Given the description of an element on the screen output the (x, y) to click on. 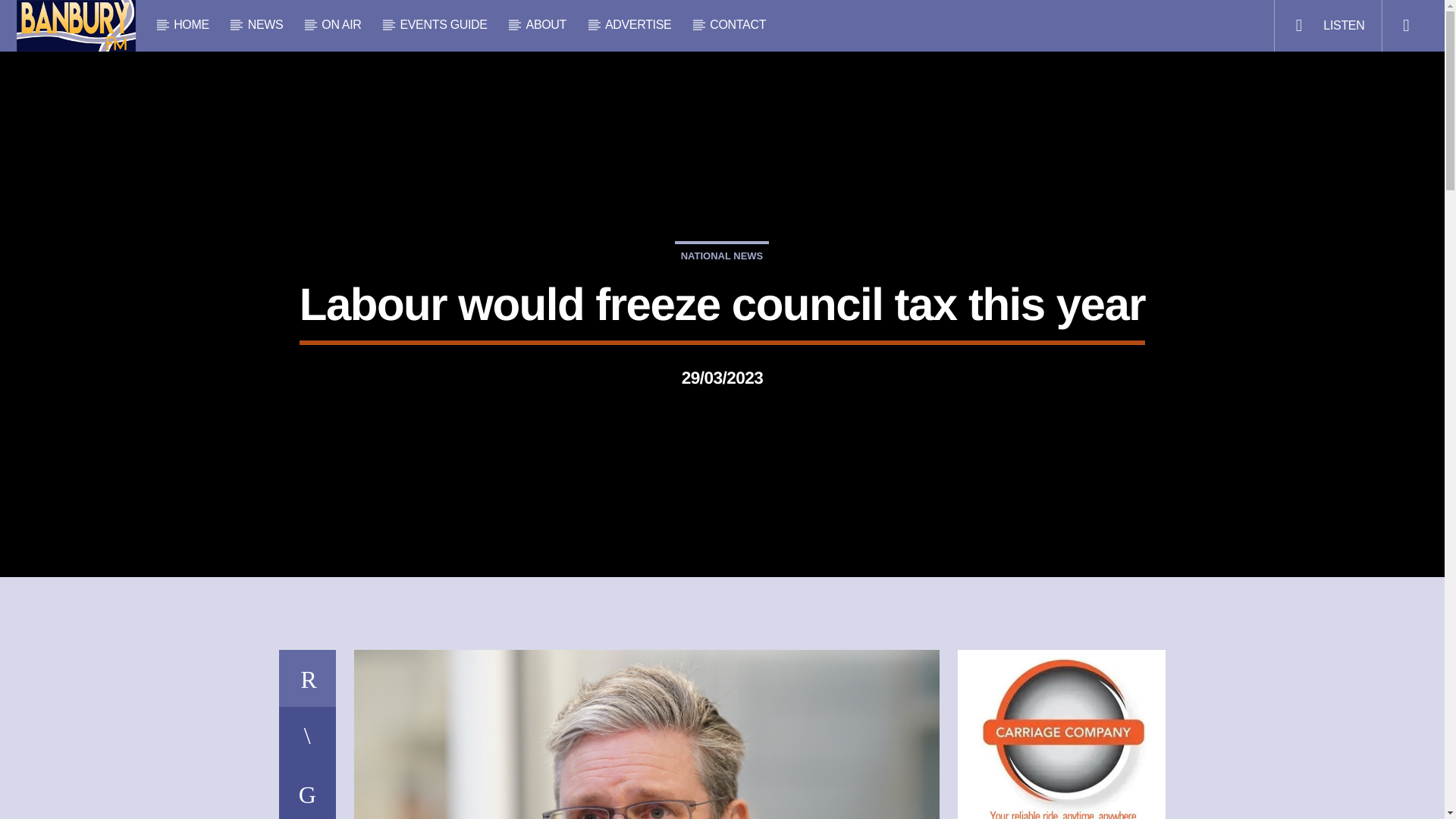
HOME (192, 24)
ON AIR (341, 24)
ABOUT (545, 24)
NEWS (264, 24)
ADVERTISE (638, 24)
LISTEN (1327, 25)
CONTACT (738, 24)
EVENTS GUIDE (442, 24)
